Given the description of an element on the screen output the (x, y) to click on. 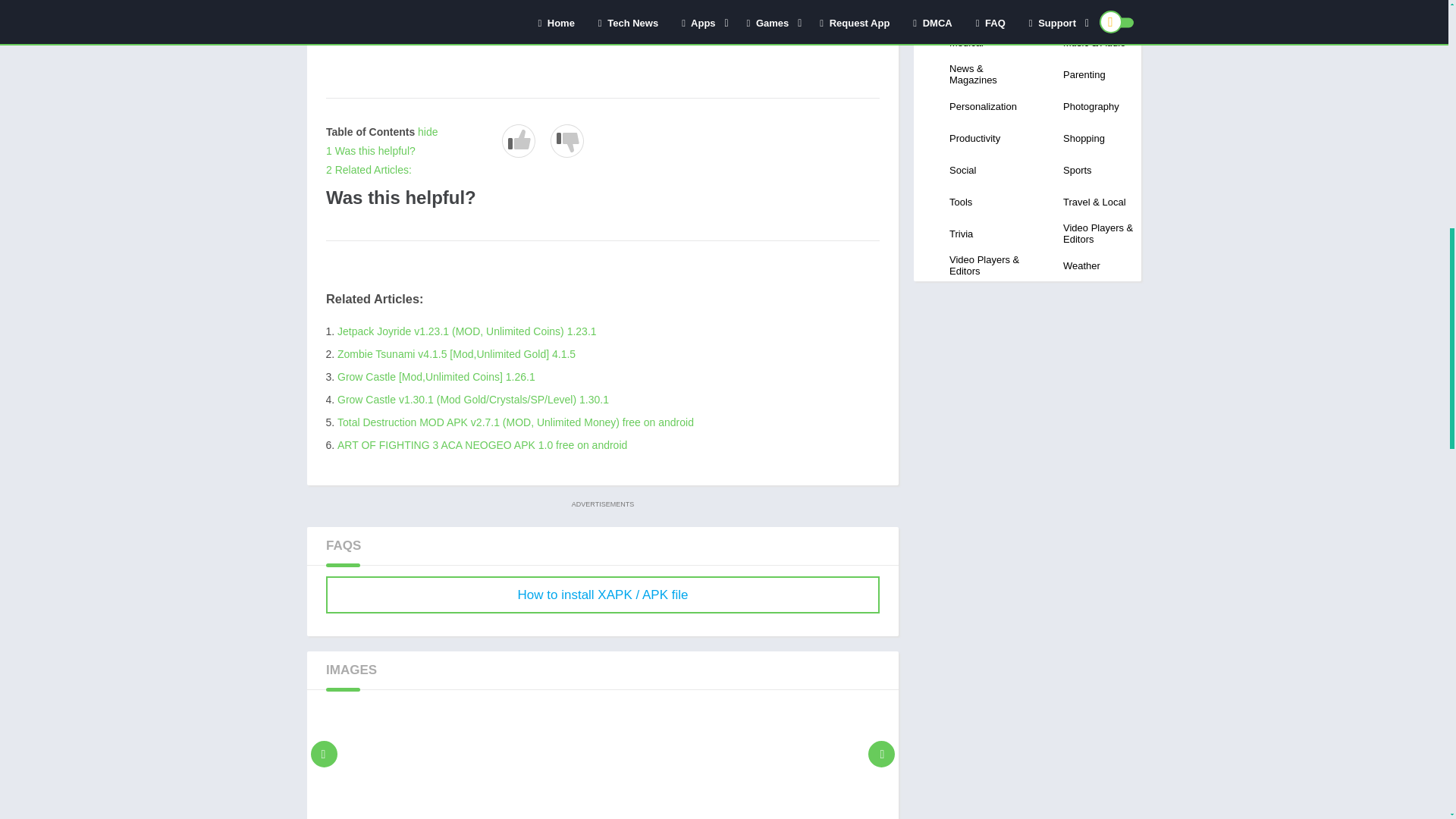
ART OF FIGHTING 3 ACA NEOGEO APK 1.0 free on android (482, 444)
